Given the description of an element on the screen output the (x, y) to click on. 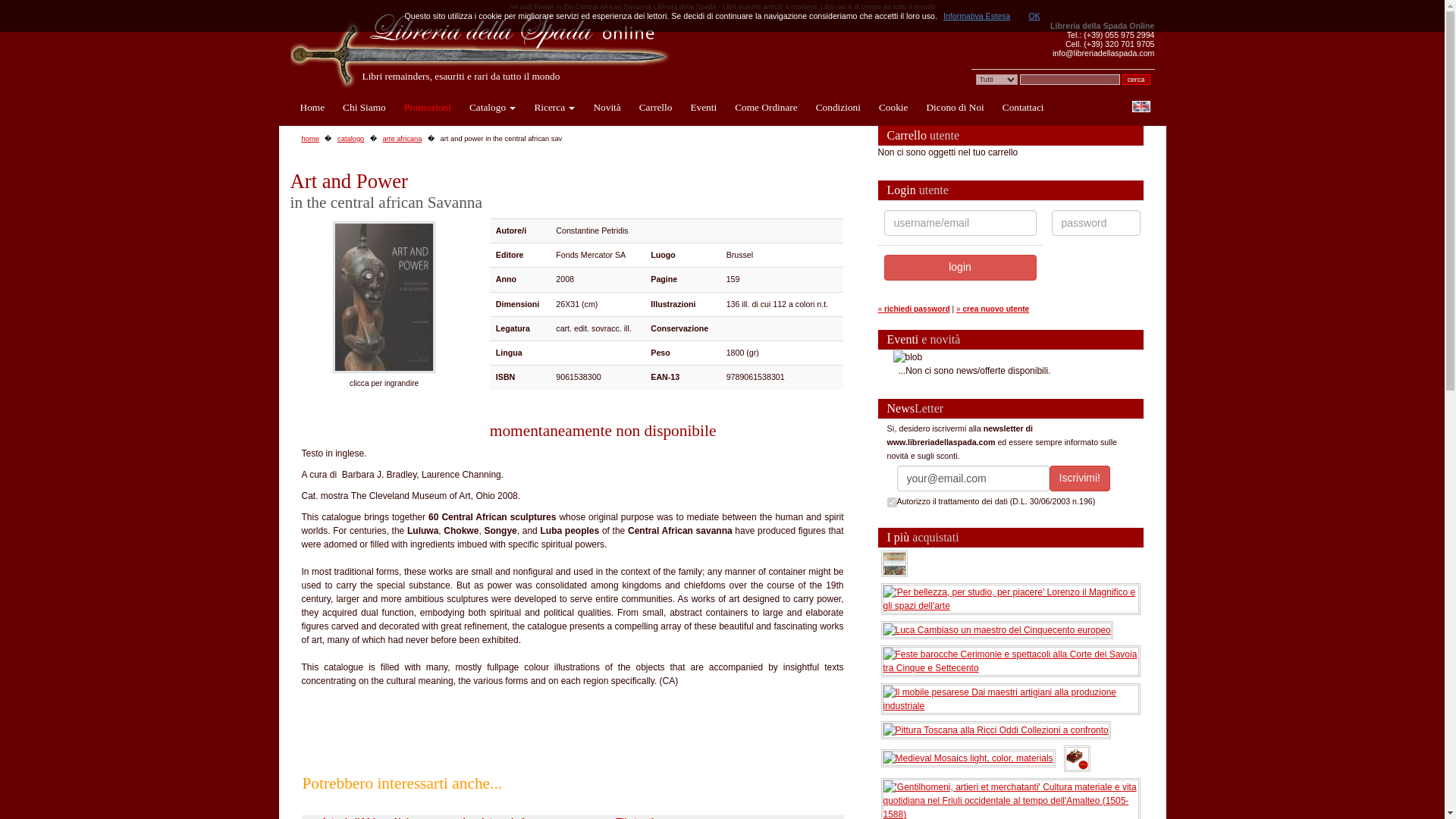
yes (891, 501)
login (959, 267)
cerca (1136, 79)
Home (312, 107)
Chi Siamo (363, 107)
Catalogo (492, 107)
Pittura Toscana alla Ricci Oddi Collezioni a confronto (995, 728)
